Given the description of an element on the screen output the (x, y) to click on. 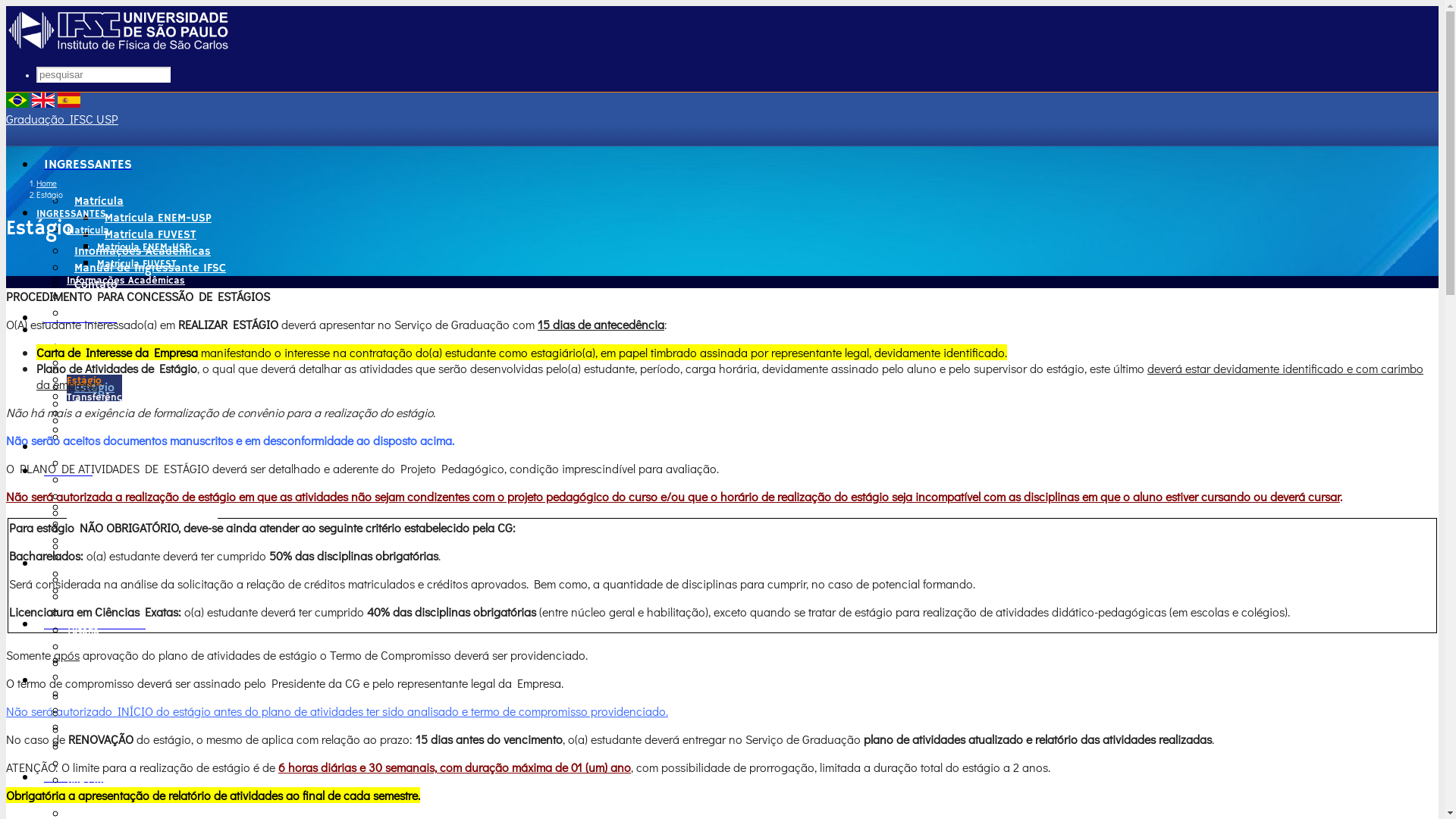
CURSOS Element type: text (68, 470)
E-Disciplinas Element type: text (108, 660)
Monitoria Element type: text (98, 727)
Tutoria Element type: text (82, 630)
Fale conosco Element type: text (97, 730)
Monitoria Element type: text (87, 647)
Contato Element type: text (95, 284)
E-Disciplinas Element type: text (96, 580)
Eventos Element type: text (95, 437)
Home Element type: text (46, 182)
Manual de Ingressante IFSC Element type: text (132, 297)
Manual de Ingressante IFSC Element type: text (149, 267)
Grade Curricular Element type: text (103, 530)
CURSOS Element type: text (55, 447)
Contato Element type: text (85, 313)
Tutoria Element type: text (92, 710)
Grade Curricular Element type: text (117, 574)
INGRESSANTES Element type: text (71, 213)
Atendimento Element type: text (96, 697)
Eventos Element type: text (85, 430)
INGRESSANTES Element type: text (87, 164)
